Given the description of an element on the screen output the (x, y) to click on. 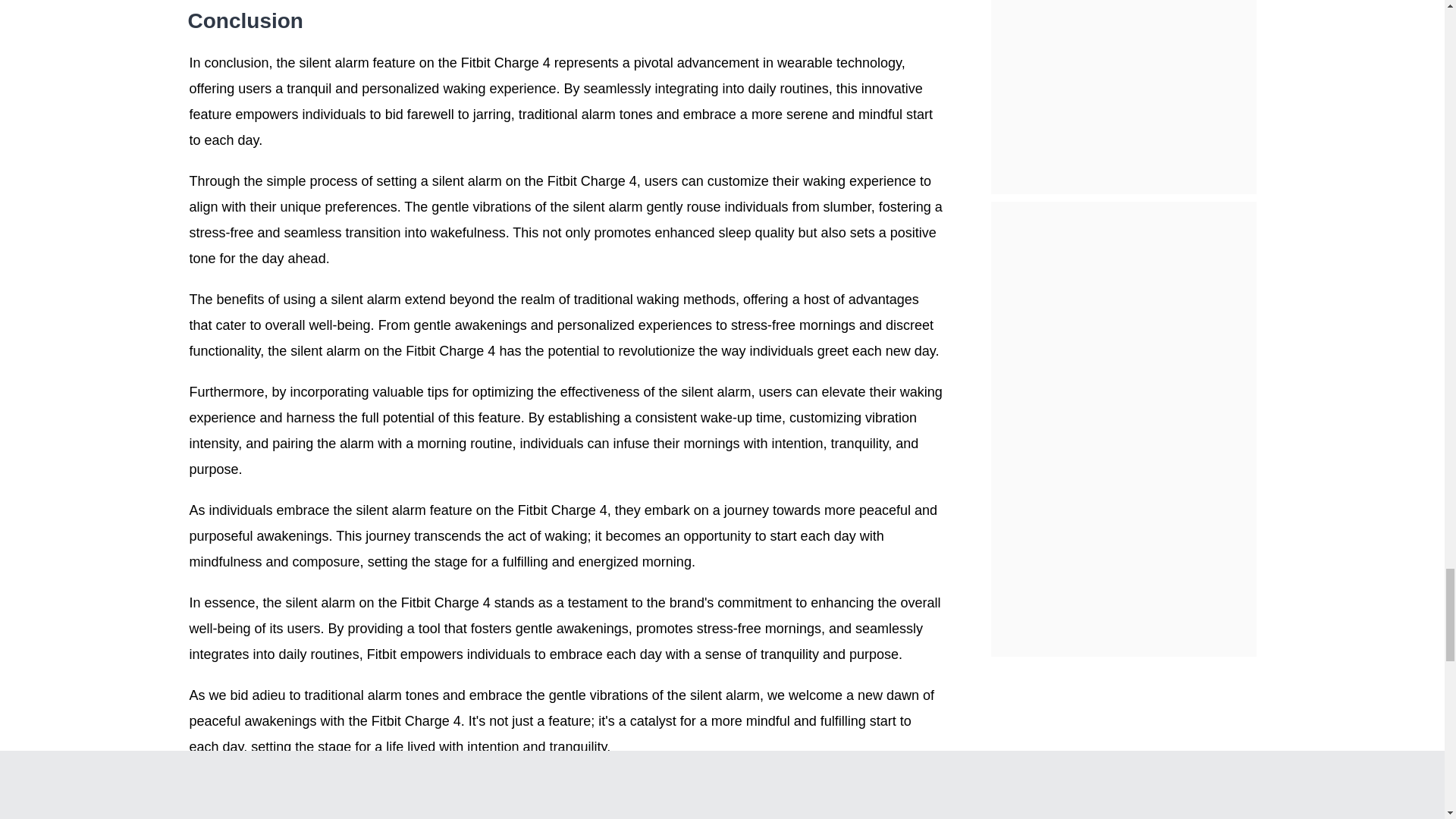
Share on facebook (200, 816)
